Given the description of an element on the screen output the (x, y) to click on. 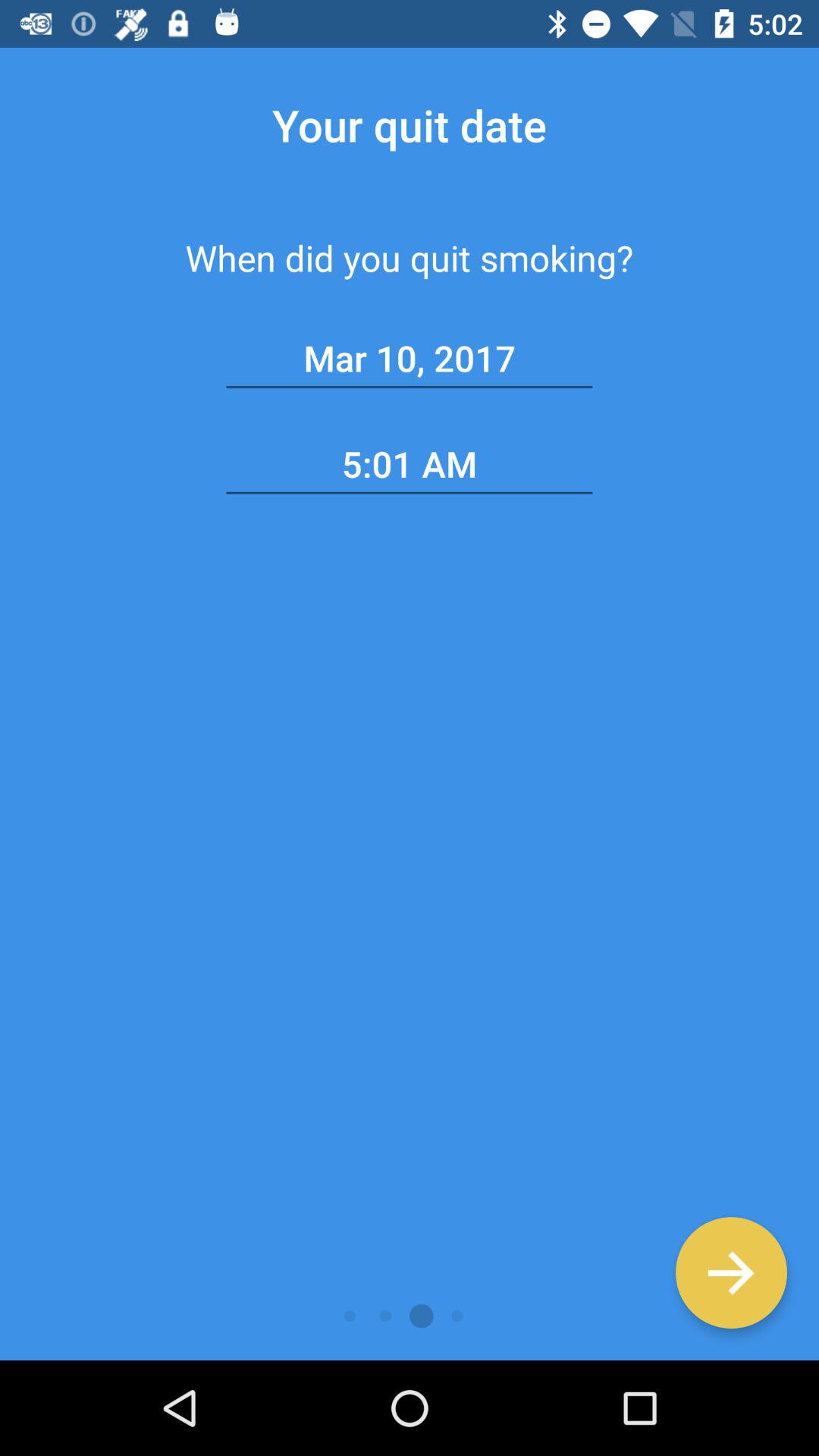
got to next page (731, 1272)
